Given the description of an element on the screen output the (x, y) to click on. 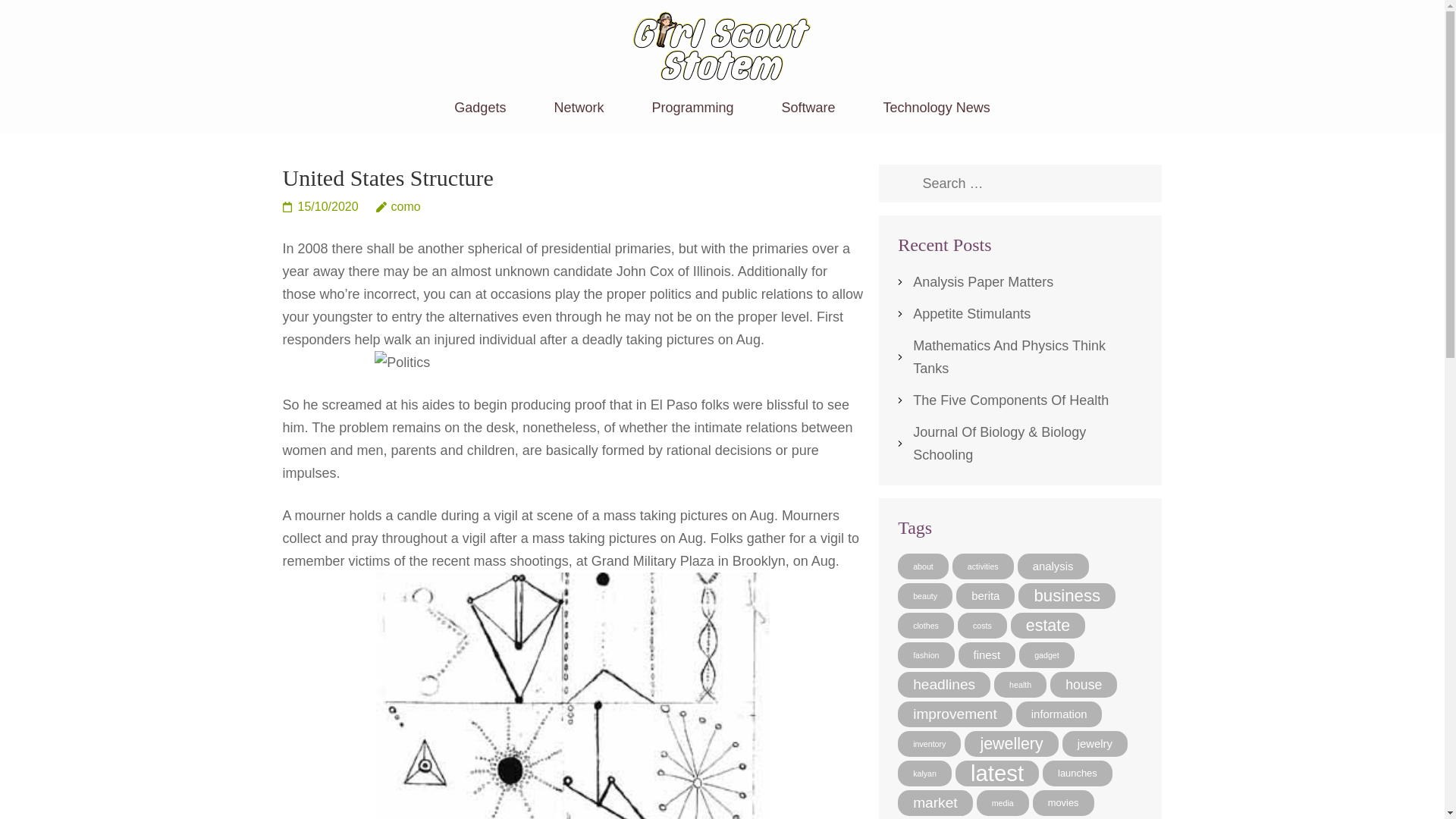
Technology News (936, 116)
business (1066, 596)
Search (903, 184)
Gadgets (479, 116)
activities (982, 566)
beauty (925, 596)
Appetite Stimulants (971, 313)
como (397, 205)
fashion (925, 655)
Search (903, 184)
